Given the description of an element on the screen output the (x, y) to click on. 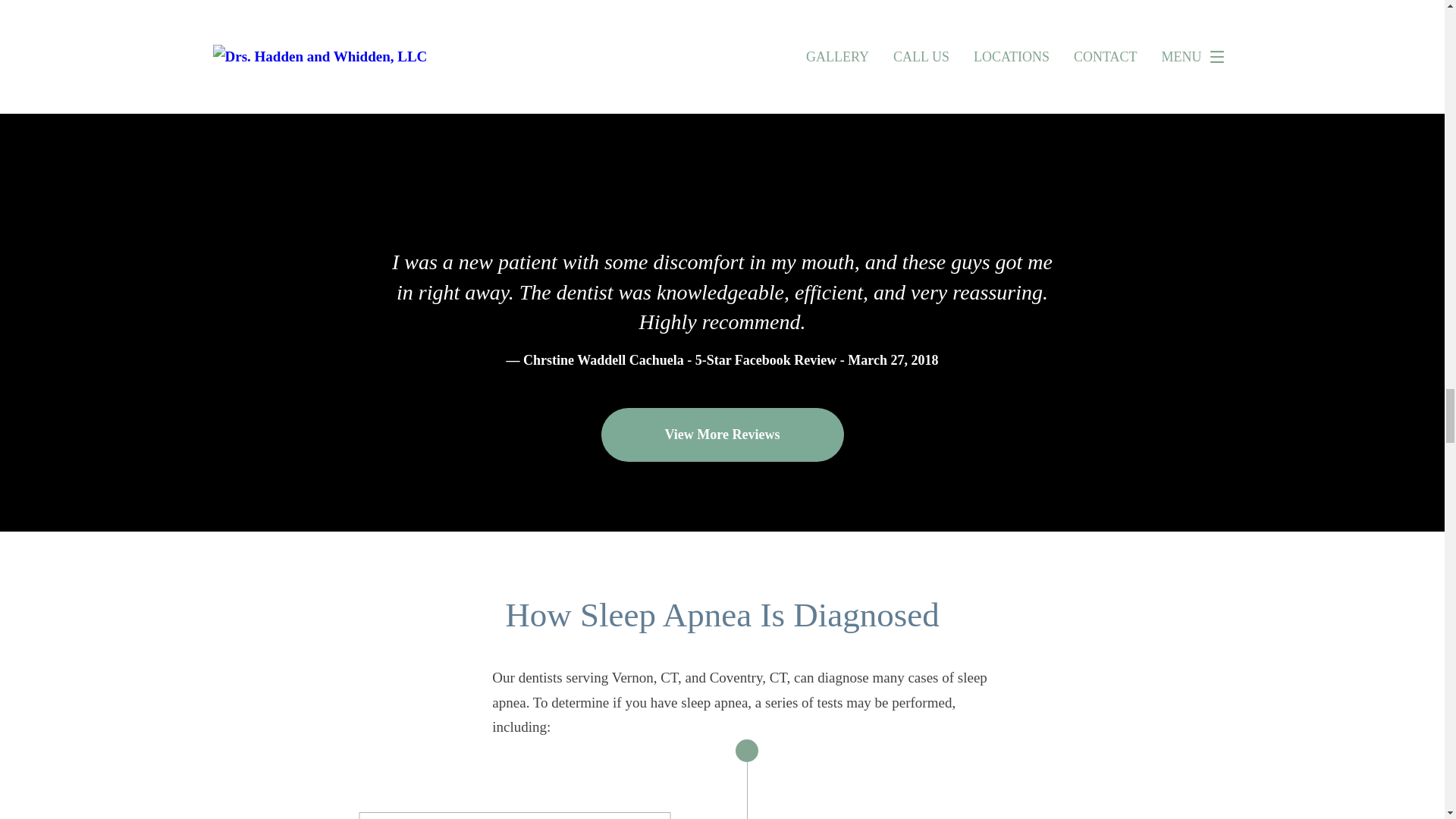
View More Reviews (721, 434)
